Given the description of an element on the screen output the (x, y) to click on. 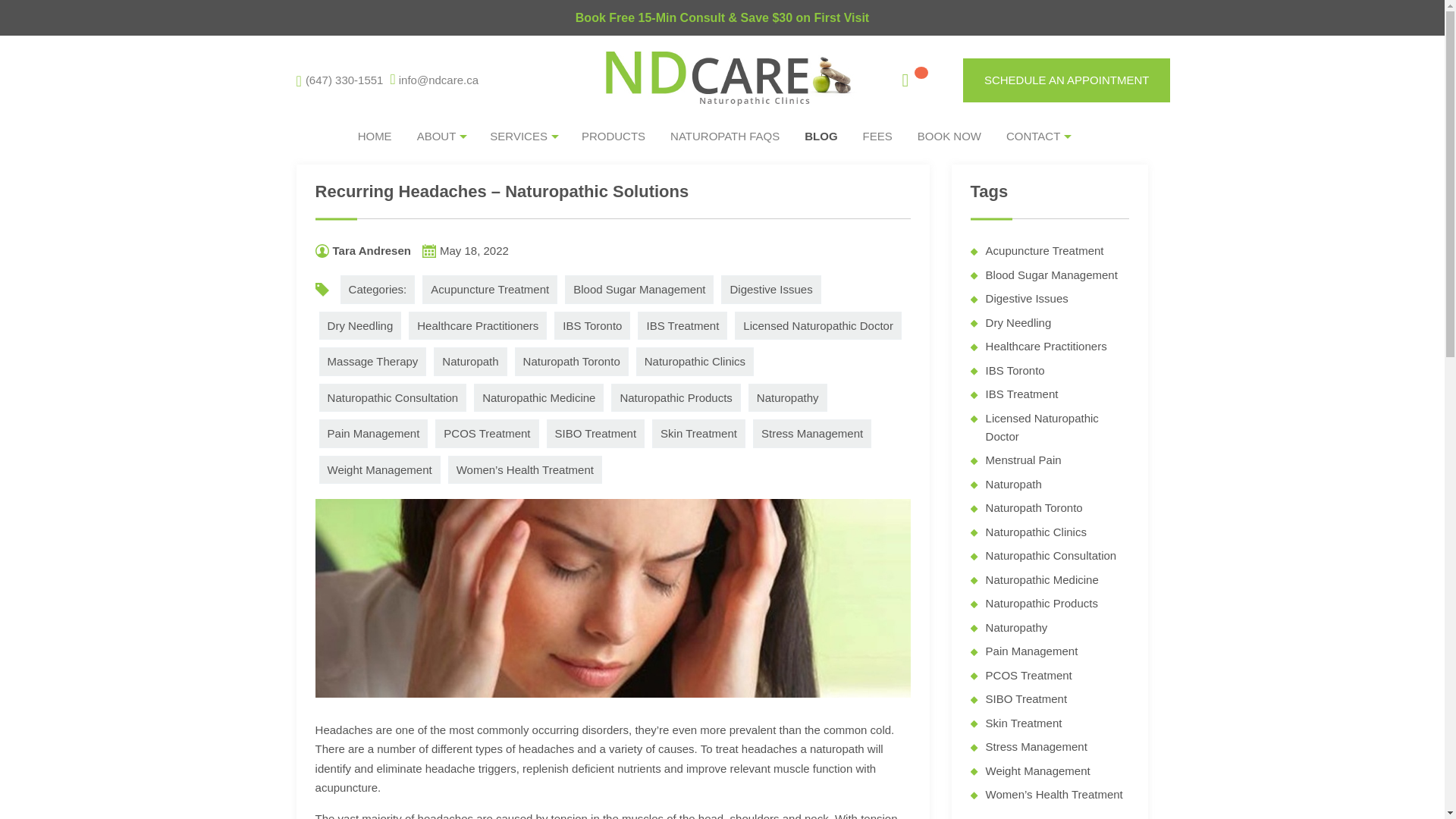
HOME (374, 136)
PRODUCTS (612, 136)
ABOUT (449, 136)
SCHEDULE AN APPOINTMENT (1066, 80)
SERVICES (531, 136)
